Given the description of an element on the screen output the (x, y) to click on. 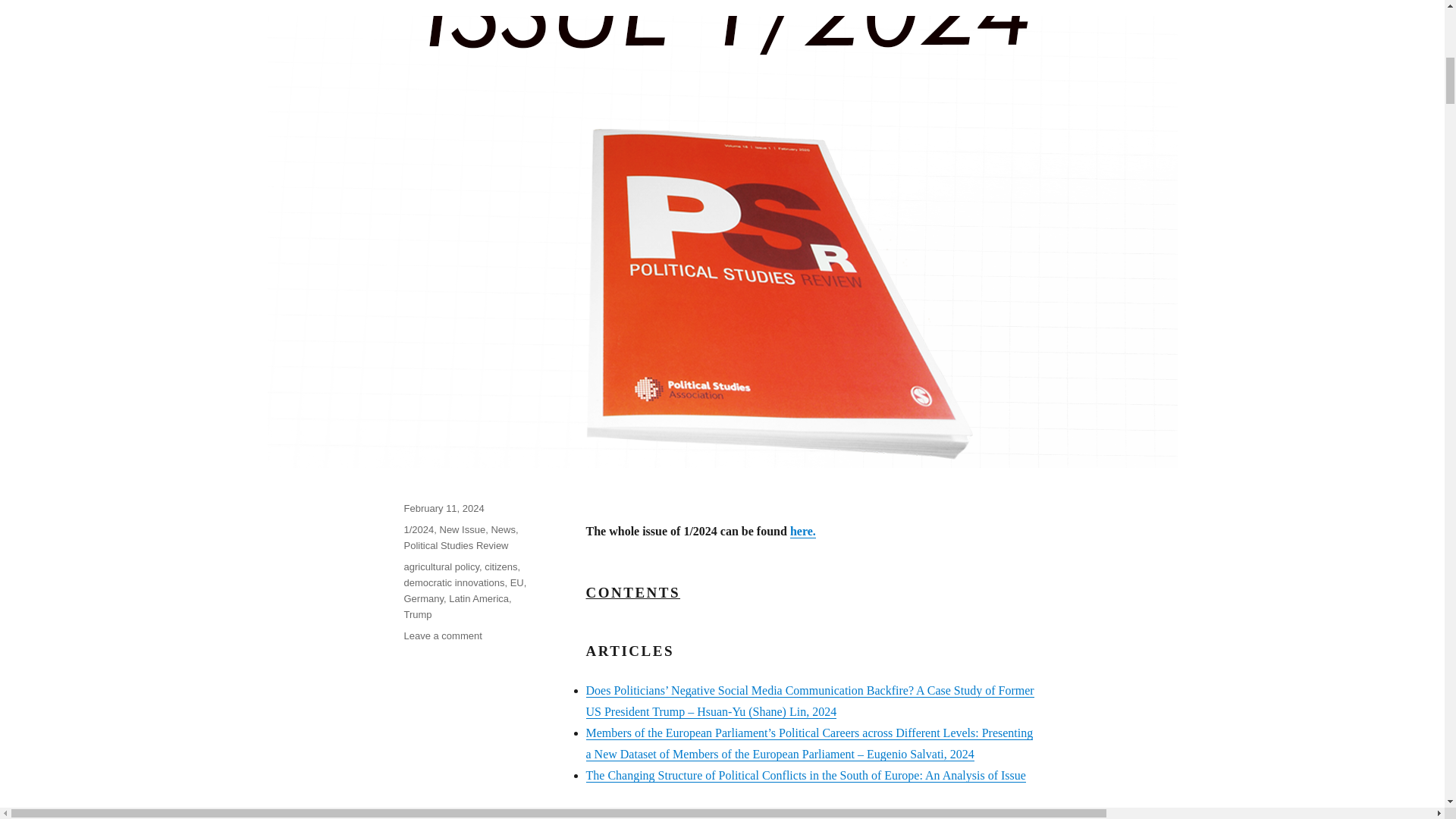
here. (802, 530)
